Given the description of an element on the screen output the (x, y) to click on. 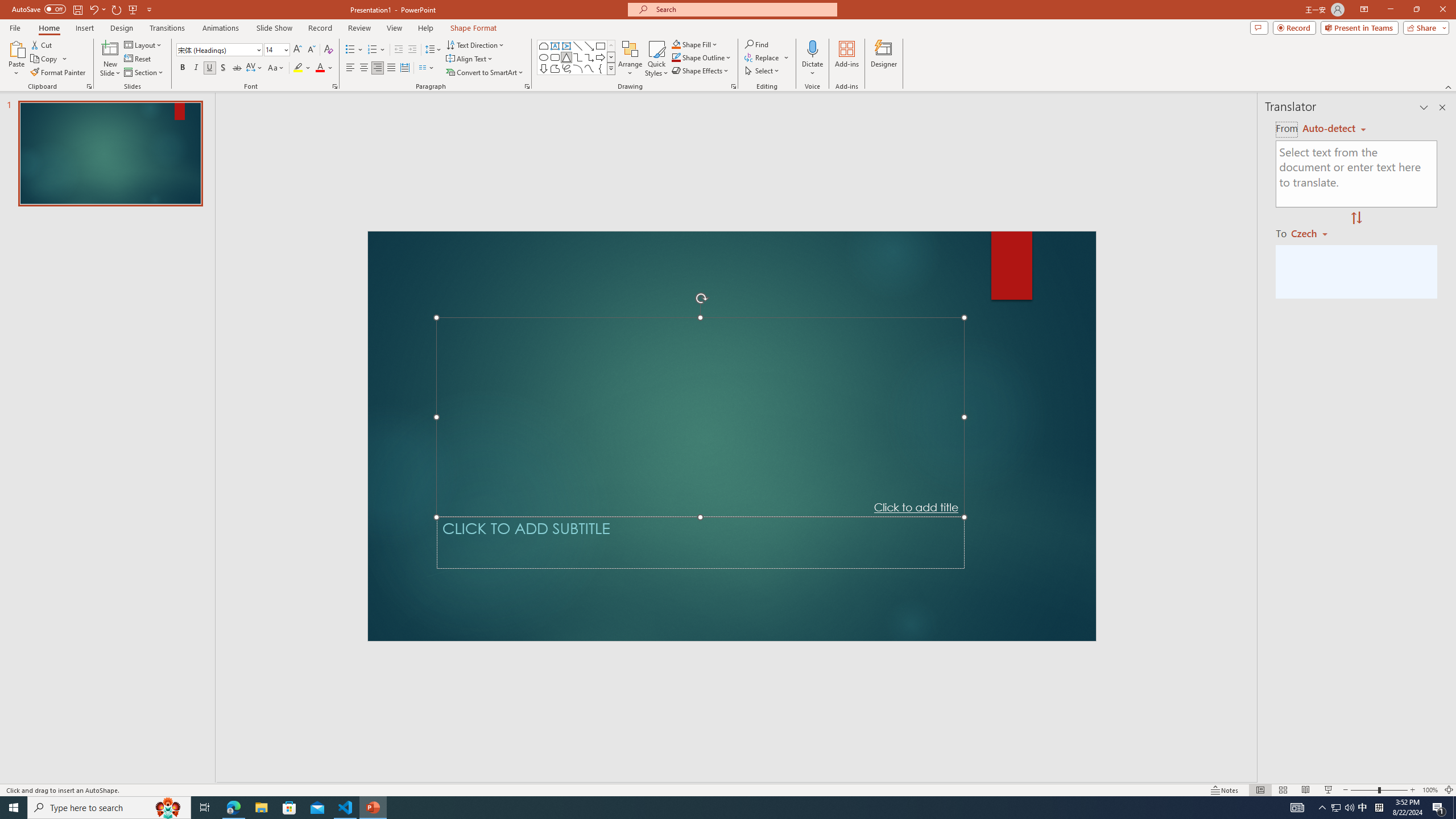
Shape Outline (701, 56)
Zoom 100% (1430, 790)
